Given the description of an element on the screen output the (x, y) to click on. 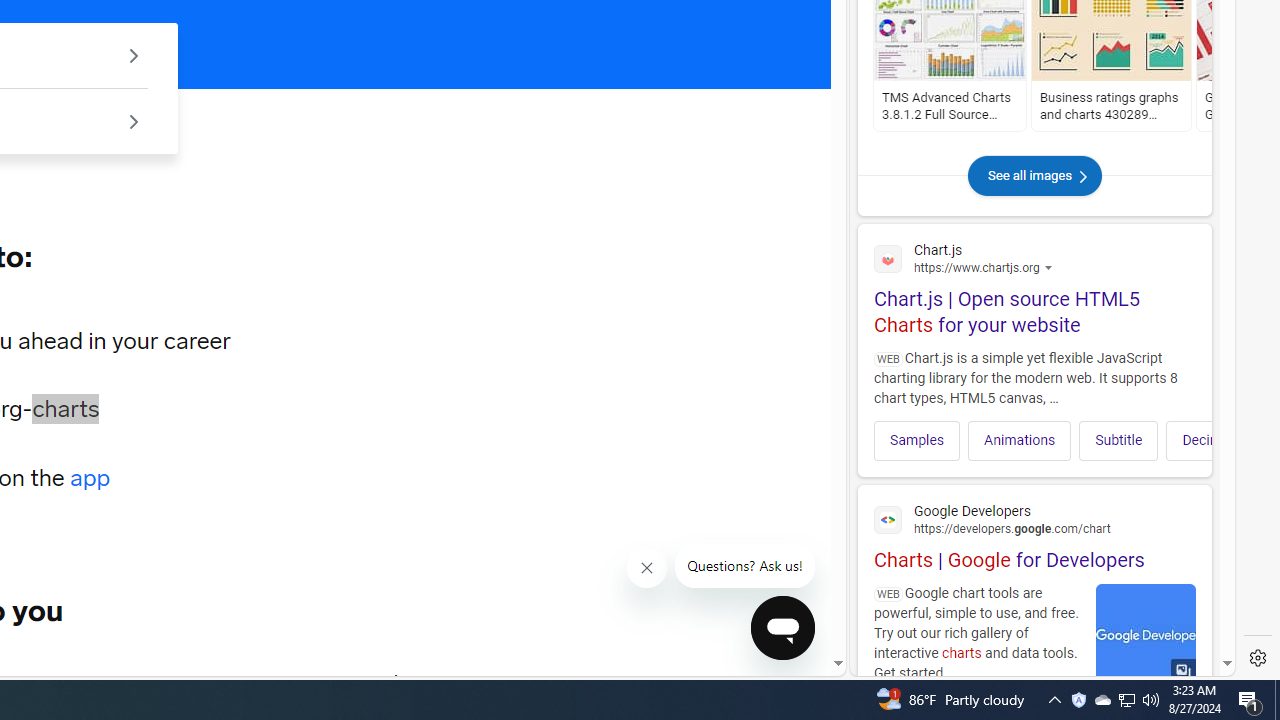
Class: sc-1uf0igr-1 fjHZYk (646, 568)
Global web icon (888, 519)
See all images (1034, 195)
Class: blkchevsvg (1082, 176)
Samples (916, 440)
Forward (398, 681)
MEDIA (397, 681)
Class: sc-1k07fow-1 cbnSms (782, 627)
Google Developers (1034, 518)
STRATEGY (283, 681)
Subtitle (1118, 440)
Subtitle (1118, 440)
